Given the description of an element on the screen output the (x, y) to click on. 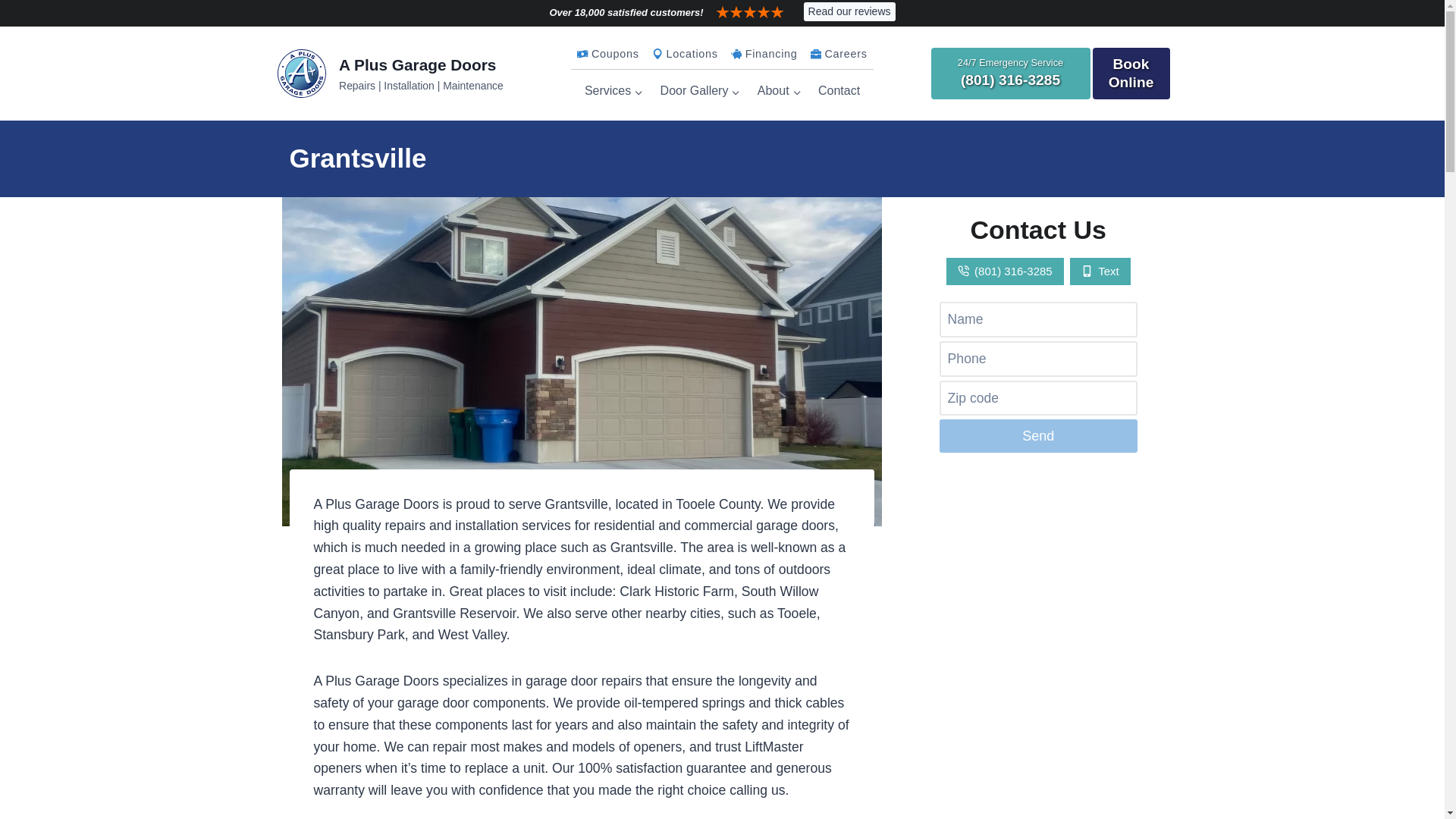
Financing (763, 54)
Locations (684, 54)
Careers (838, 54)
Coupons (608, 54)
Read our reviews (849, 11)
Services (614, 91)
Door Gallery (699, 91)
Send (1038, 435)
